Given the description of an element on the screen output the (x, y) to click on. 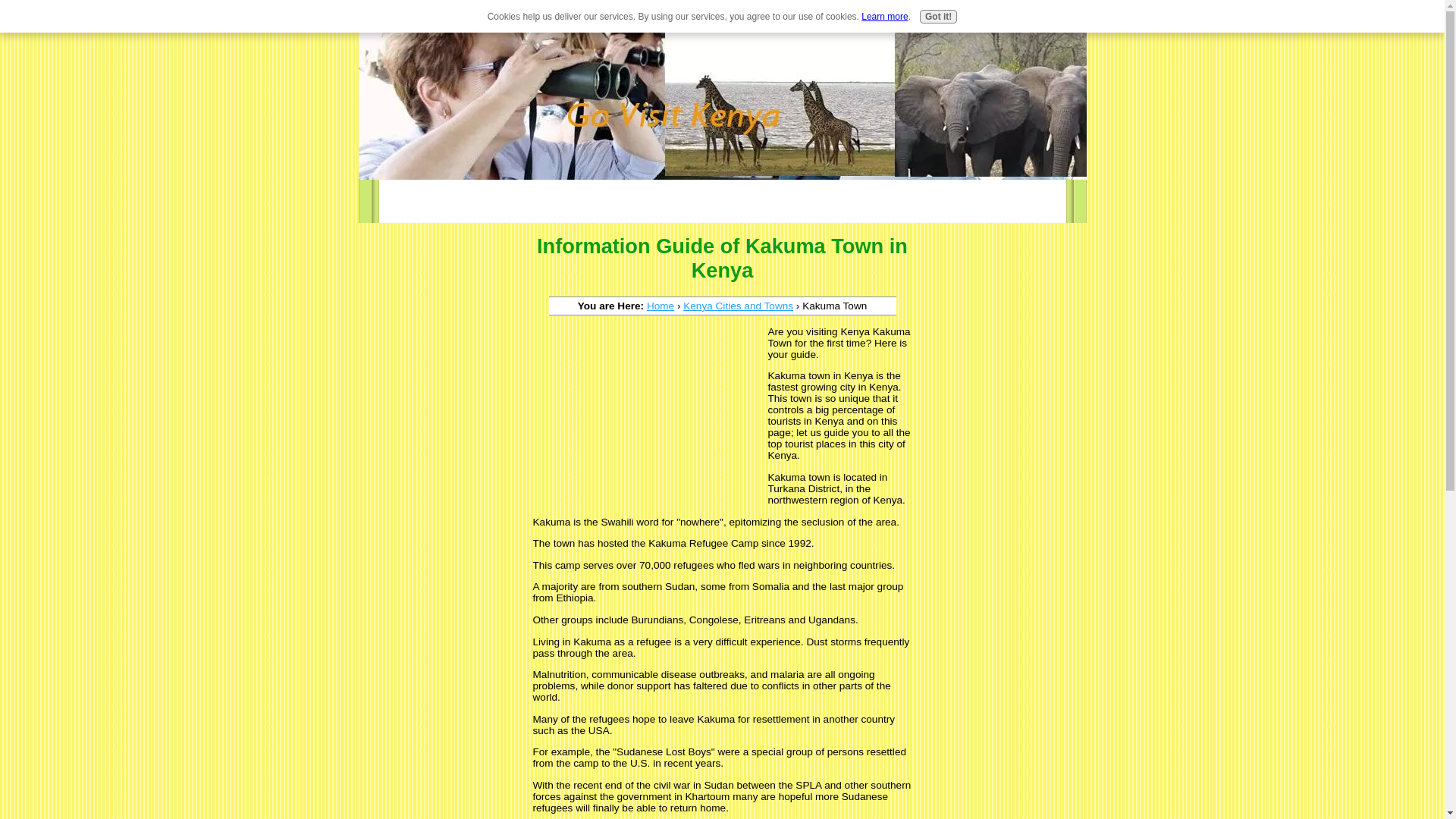
Learn more (884, 16)
Kenya Cities and Towns (737, 306)
Advertisement (646, 419)
Got it! (938, 16)
Home (660, 306)
